Given the description of an element on the screen output the (x, y) to click on. 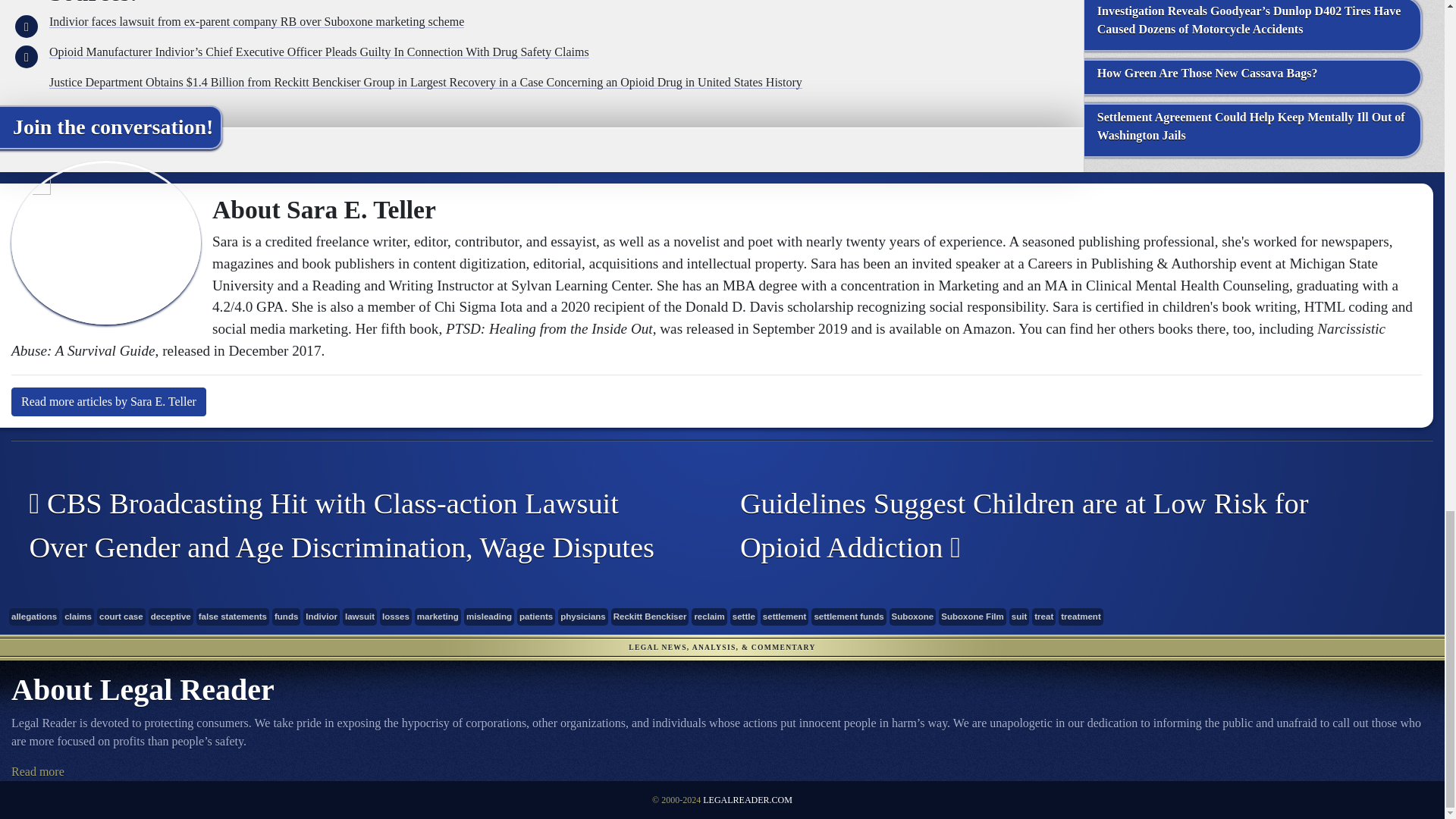
allegations (33, 616)
court case (121, 616)
claims (78, 616)
false statements (232, 616)
Read more articles by Sara E. Teller (108, 401)
deceptive (170, 616)
Read more articles by Sara E. Teller (108, 401)
